Given the description of an element on the screen output the (x, y) to click on. 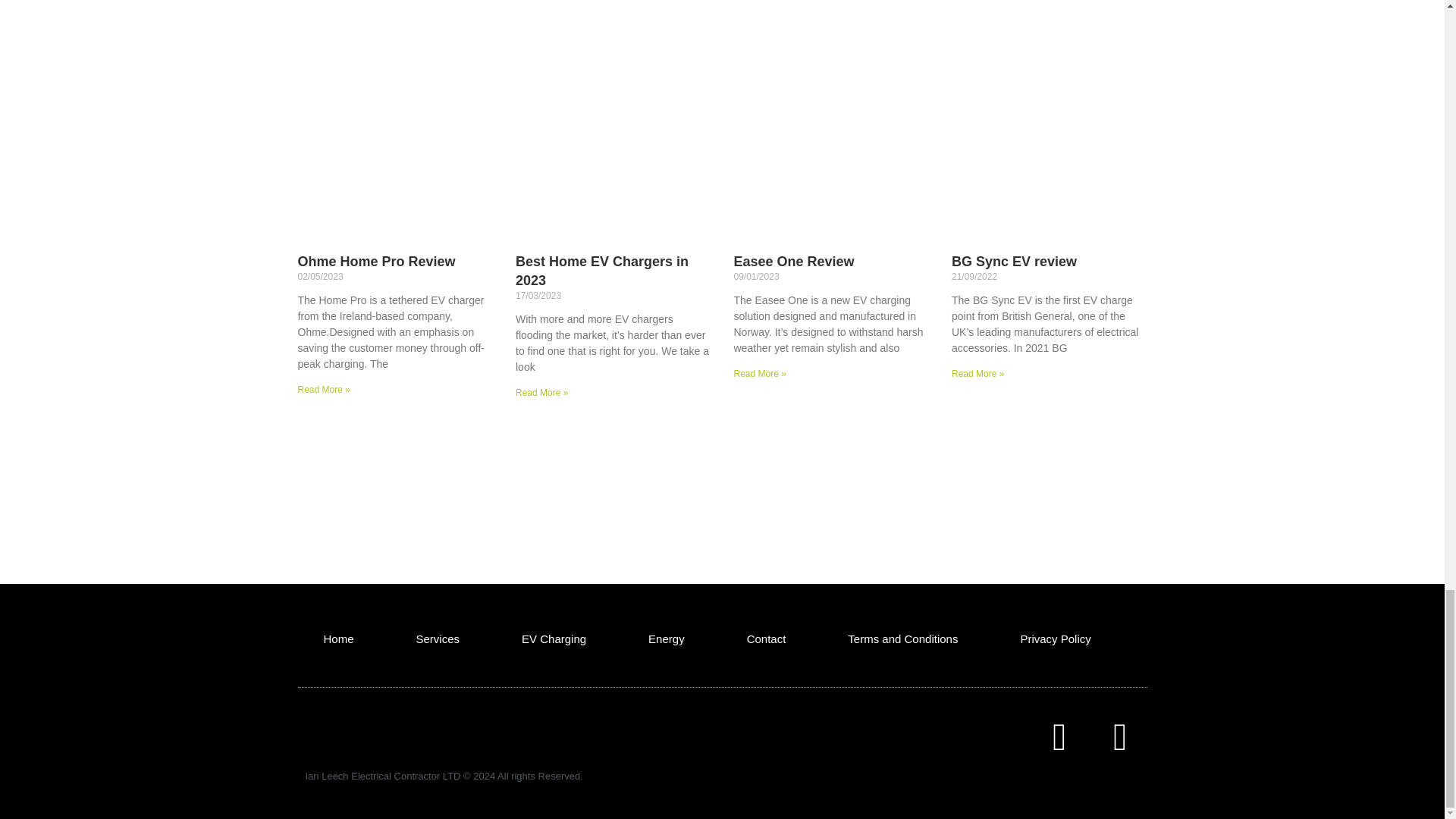
EV Charging (553, 638)
Energy (666, 638)
Easee One Review (793, 260)
Terms and Conditions (902, 638)
Home (337, 638)
BG Sync EV review (1014, 260)
Contact (767, 638)
Privacy Policy (1054, 638)
Ohme Home Pro Review (375, 260)
Best Home EV Chargers in 2023 (601, 270)
